Given the description of an element on the screen output the (x, y) to click on. 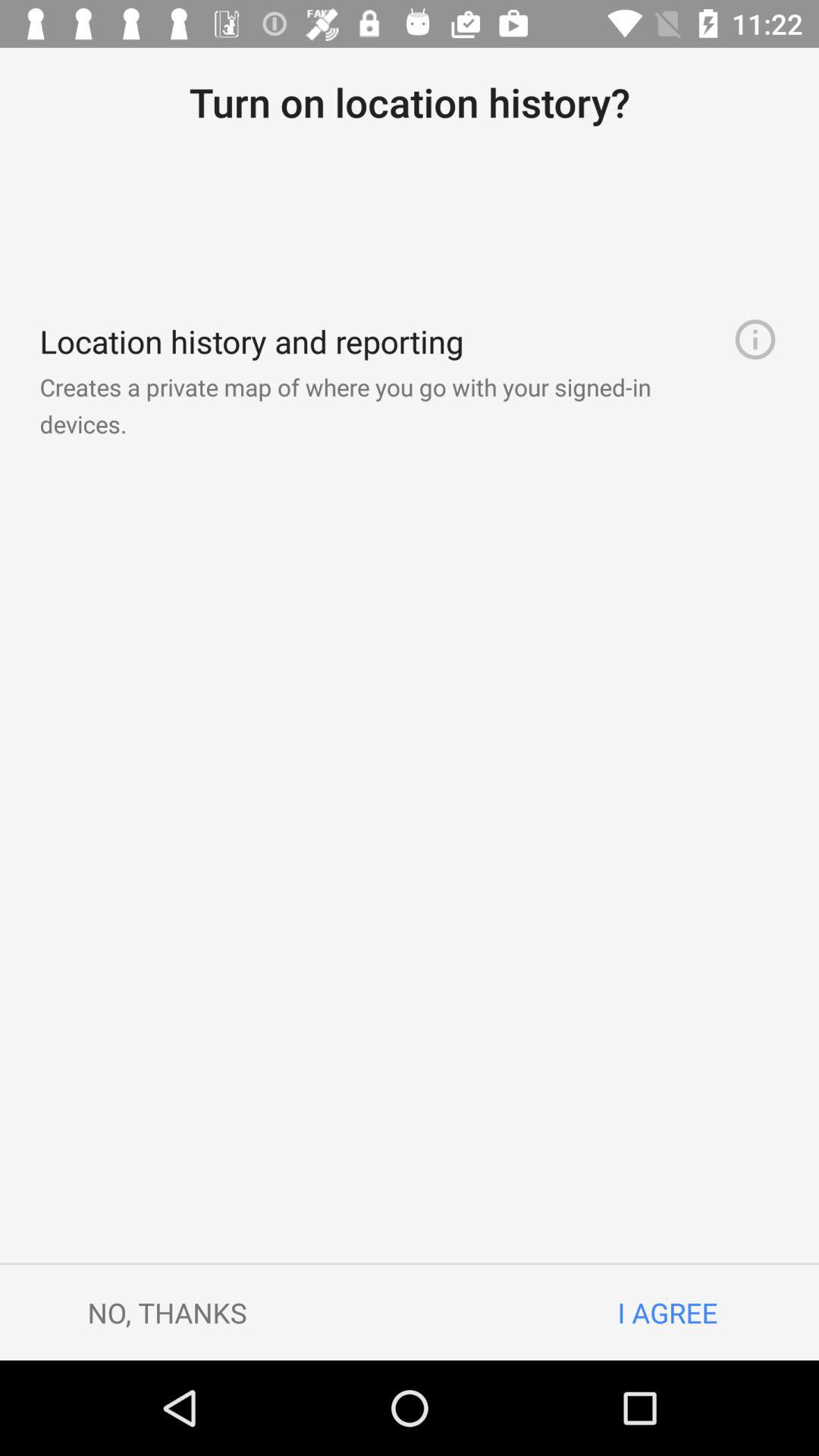
click the icon at the bottom right corner (667, 1312)
